Given the description of an element on the screen output the (x, y) to click on. 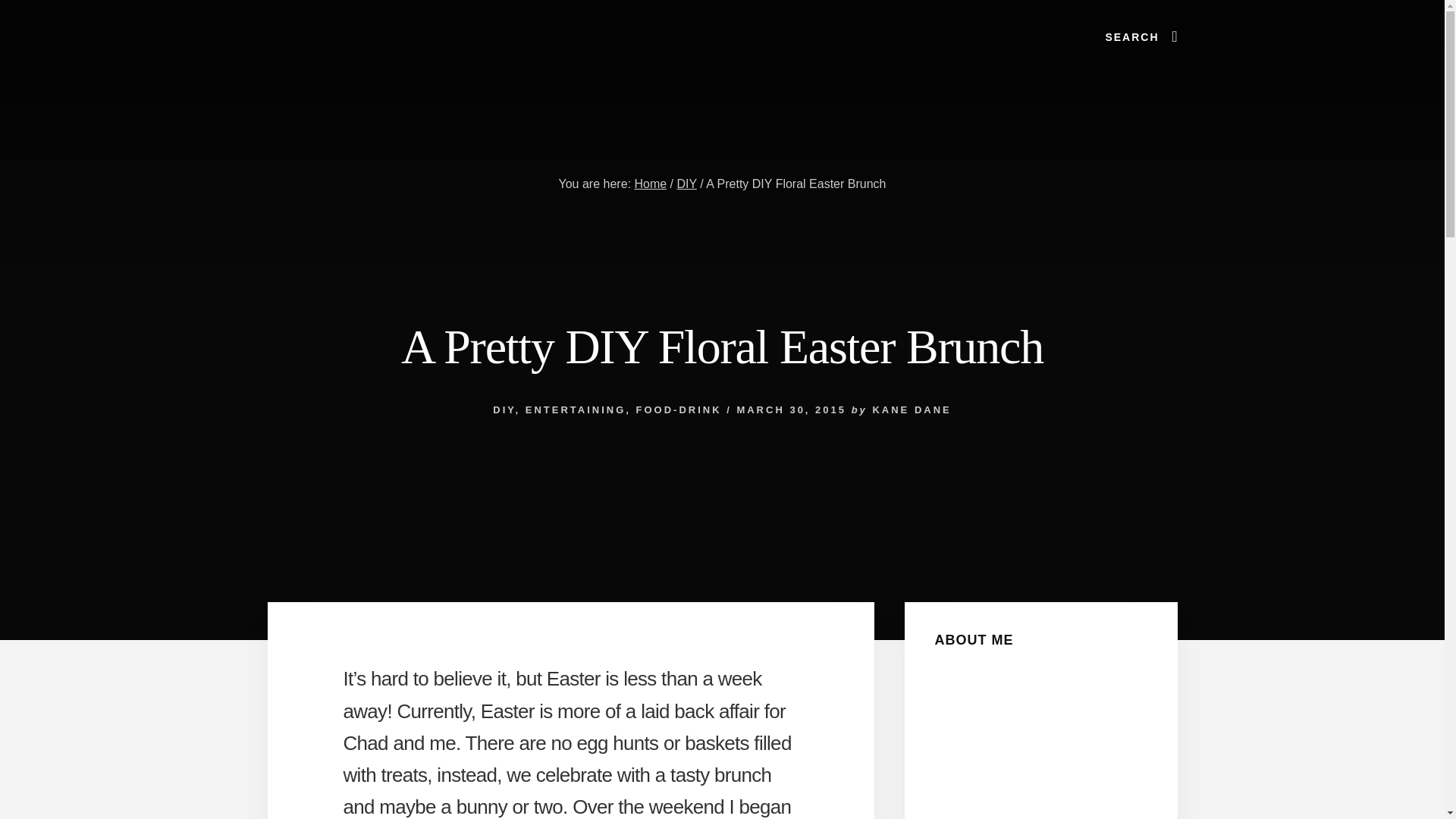
KANE DANE (911, 409)
ENTERTAINING (575, 409)
FOOD-DRINK (677, 409)
Home (649, 183)
DIY (686, 183)
DIY (504, 409)
